Given the description of an element on the screen output the (x, y) to click on. 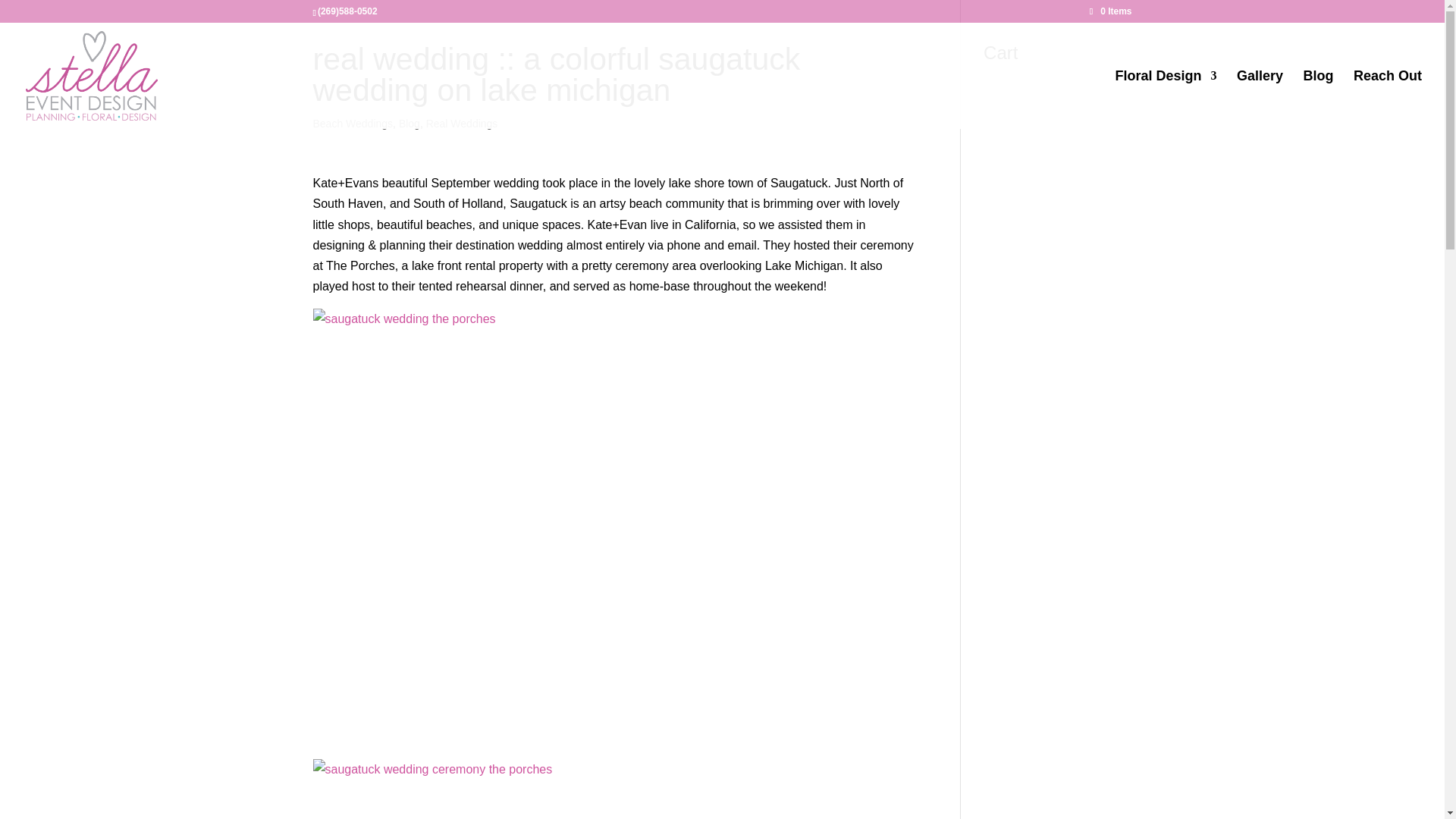
Real Weddings (461, 123)
Beach Weddings (353, 123)
Reach Out (1388, 99)
k jones ceremony (614, 789)
0 Items (1110, 10)
Floral Design (1166, 99)
Blog (409, 123)
